Given the description of an element on the screen output the (x, y) to click on. 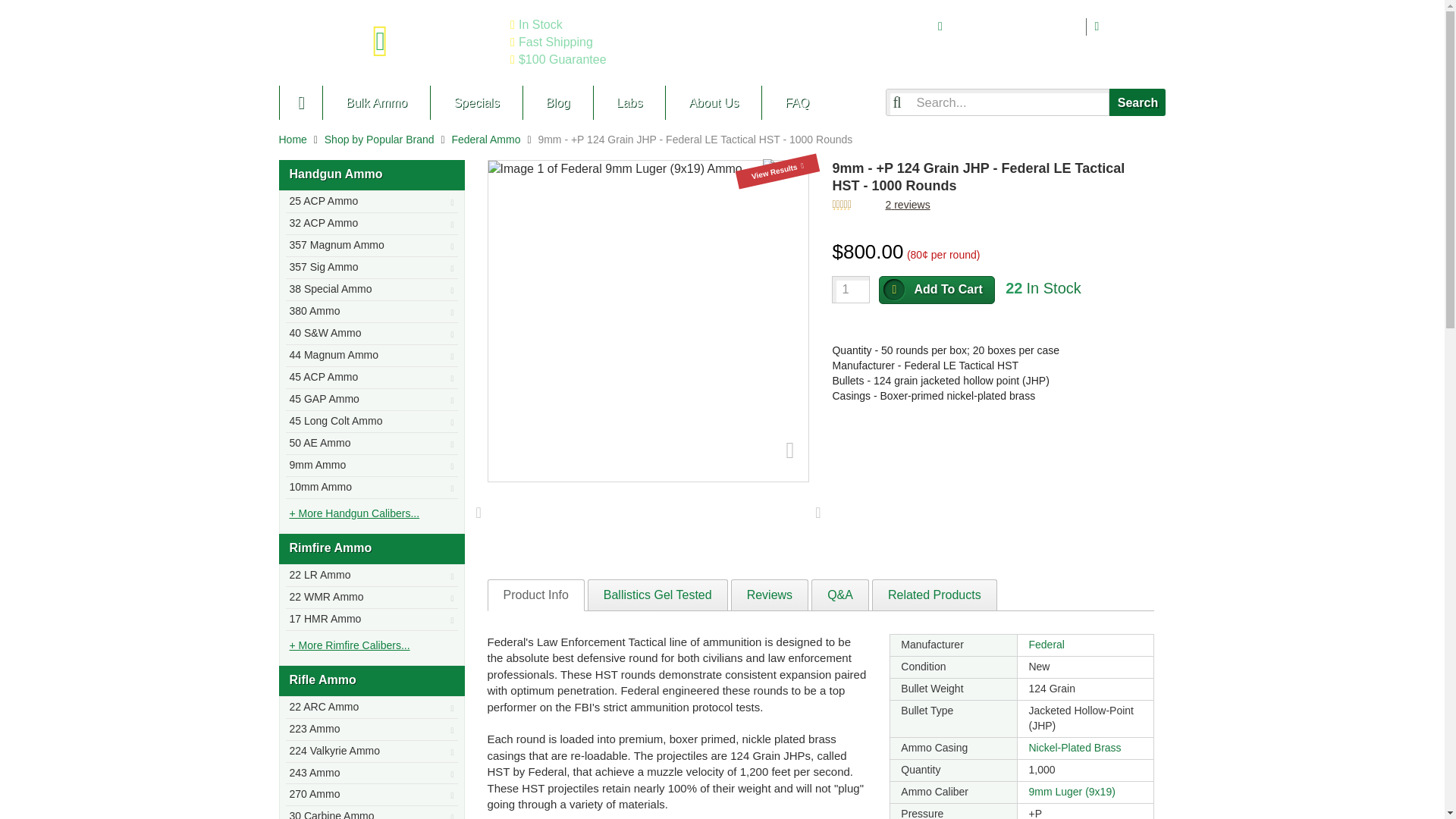
Email Us (1133, 25)
Bulk Ammunition (375, 102)
1 (850, 289)
Special Ammunition Deals (475, 102)
Shop by Popular Brand (378, 139)
Lucky Gunner (301, 102)
Home (293, 139)
Call Us (1015, 25)
Cheap Ammo For Sale at Lucky Gunner (387, 42)
Read reviews about this Federal Ammo (907, 204)
